Given the description of an element on the screen output the (x, y) to click on. 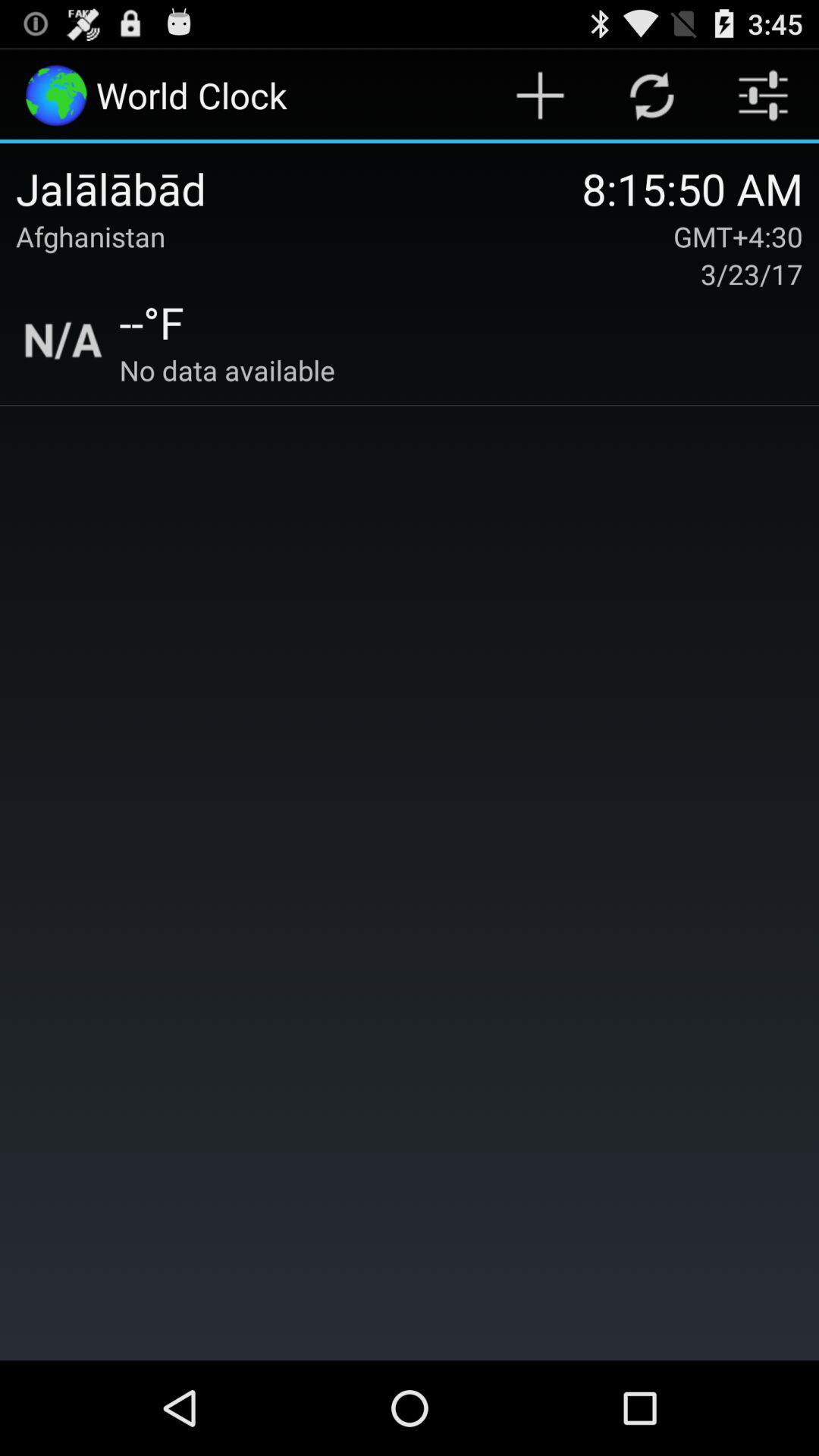
tap the 8 15 50 (692, 188)
